Given the description of an element on the screen output the (x, y) to click on. 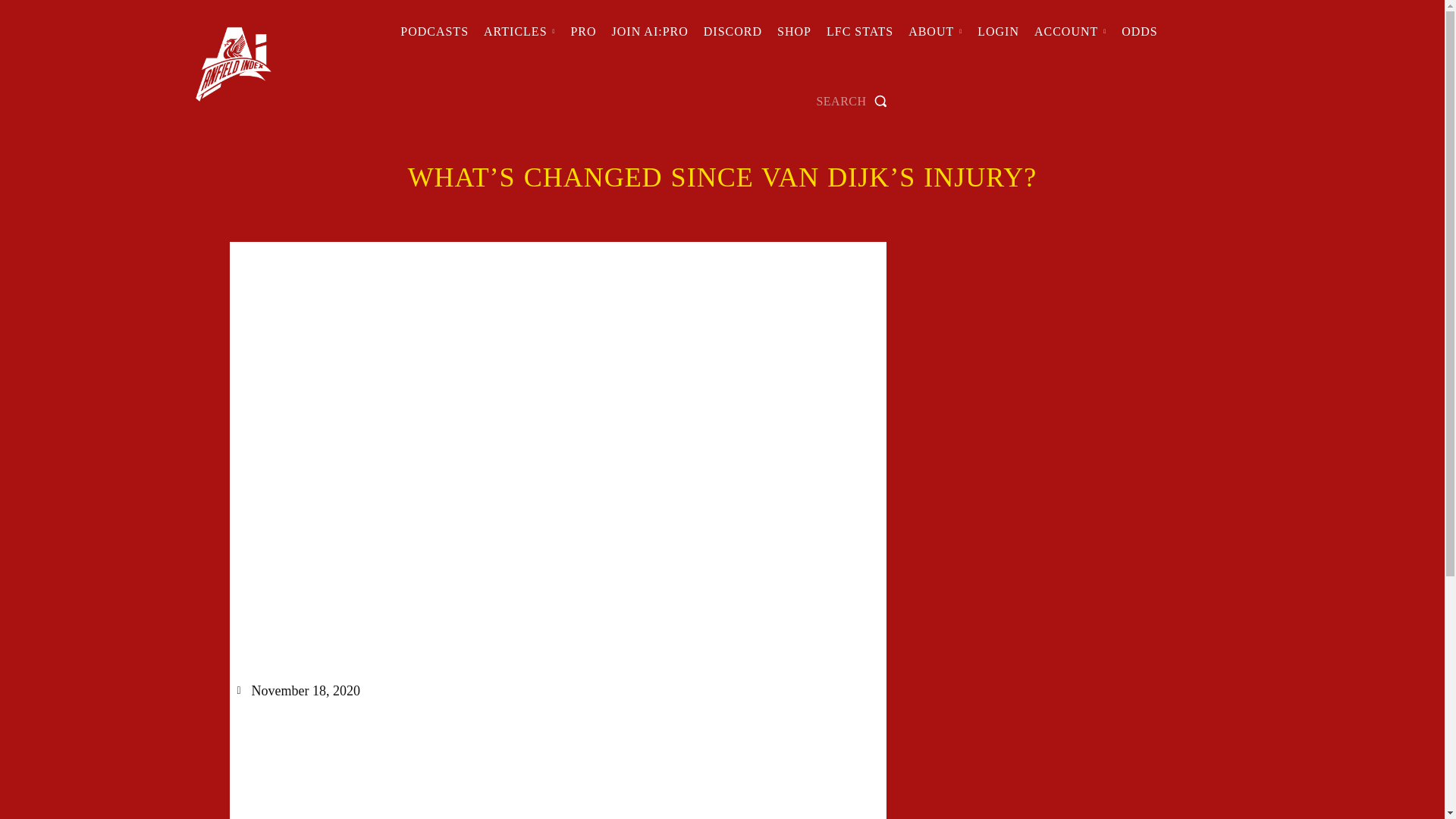
LFC STATS (859, 31)
JOIN AI:PRO (649, 31)
PODCASTS (434, 31)
DISCORD (732, 31)
SHOP (794, 31)
ARTICLES (519, 31)
ABOUT (935, 31)
PRO (583, 31)
Check out Empire Of The Kop! (732, 31)
